Given the description of an element on the screen output the (x, y) to click on. 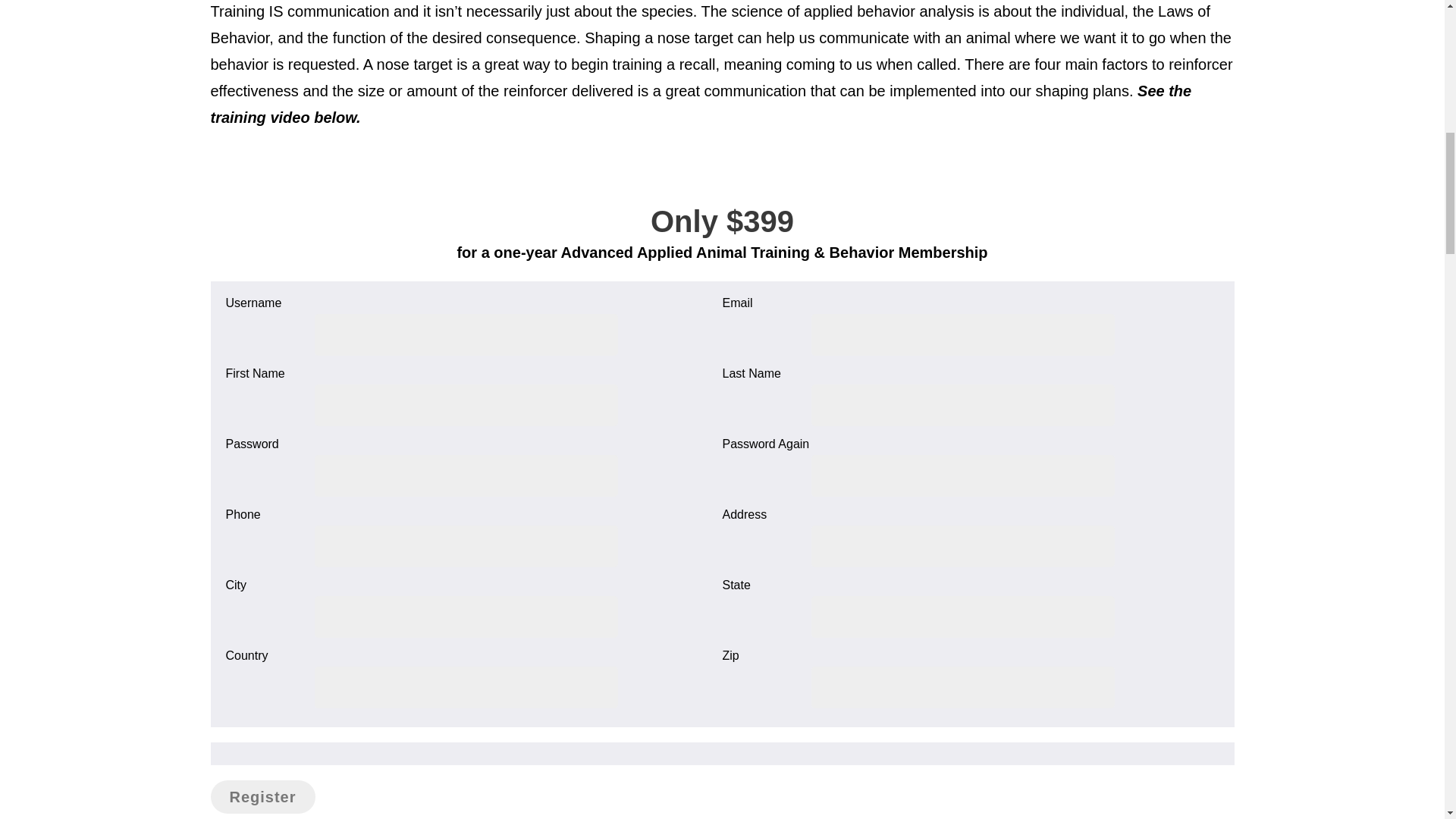
Register (263, 797)
